Given the description of an element on the screen output the (x, y) to click on. 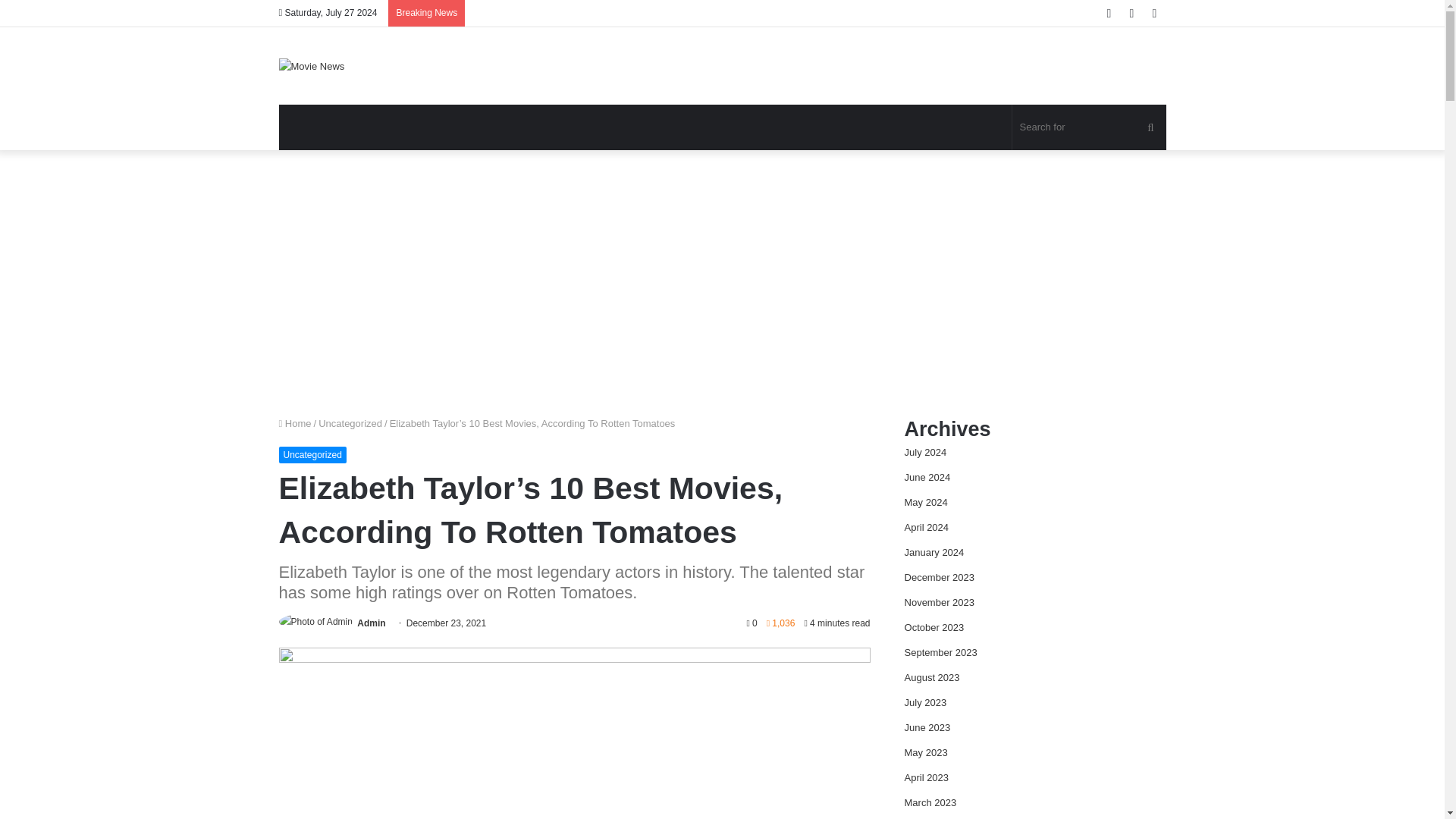
Admin (370, 623)
Search for (1088, 126)
Uncategorized (349, 423)
Sidebar (1154, 13)
Search for (1150, 126)
Uncategorized (312, 454)
Log In (1109, 13)
Random Article (1131, 13)
Random Article (1131, 13)
Home (295, 423)
Admin (370, 623)
Movie News (312, 65)
